Given the description of an element on the screen output the (x, y) to click on. 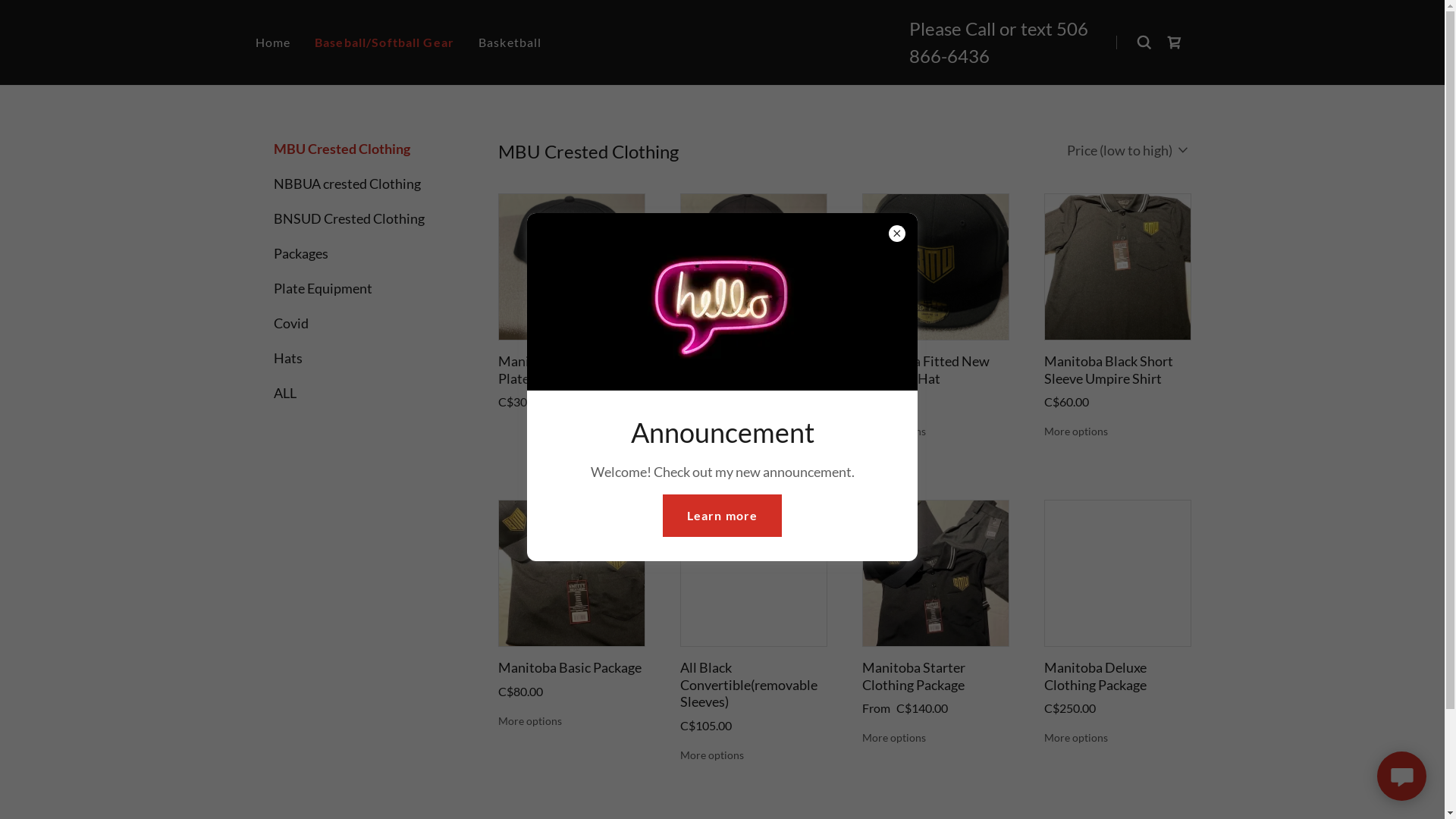
ALL Element type: text (357, 392)
MBU Crested Clothing Element type: text (357, 148)
BNSUD Crested Clothing Element type: text (357, 218)
NBBUA crested Clothing Element type: text (357, 183)
Home Element type: text (272, 42)
Manitoba Basic Package
C$80.00
More options Element type: text (570, 613)
Hats Element type: text (357, 357)
Packages Element type: text (357, 252)
Manitoba Deluxe Clothing Package
C$250.00
More options Element type: text (1116, 622)
Learn more Element type: text (721, 515)
Manitoba Adjustable Plate Hat
C$30.00 Element type: text (570, 302)
Price (low to high) Element type: text (1127, 149)
Plate Equipment Element type: text (357, 287)
Manitoba Starter Clothing Package
From
C$140.00
More options Element type: text (934, 622)
Manitoba Flex Fit Base Hat
C$40.00
More options Element type: text (752, 316)
Covid Element type: text (357, 322)
Baseball/Softball Gear Element type: text (384, 42)
506 866-6436 Element type: text (998, 41)
Basketball Element type: text (509, 42)
Manitoba Fitted New Era Plate Hat
C$45.00
More options Element type: text (934, 316)
